Given the description of an element on the screen output the (x, y) to click on. 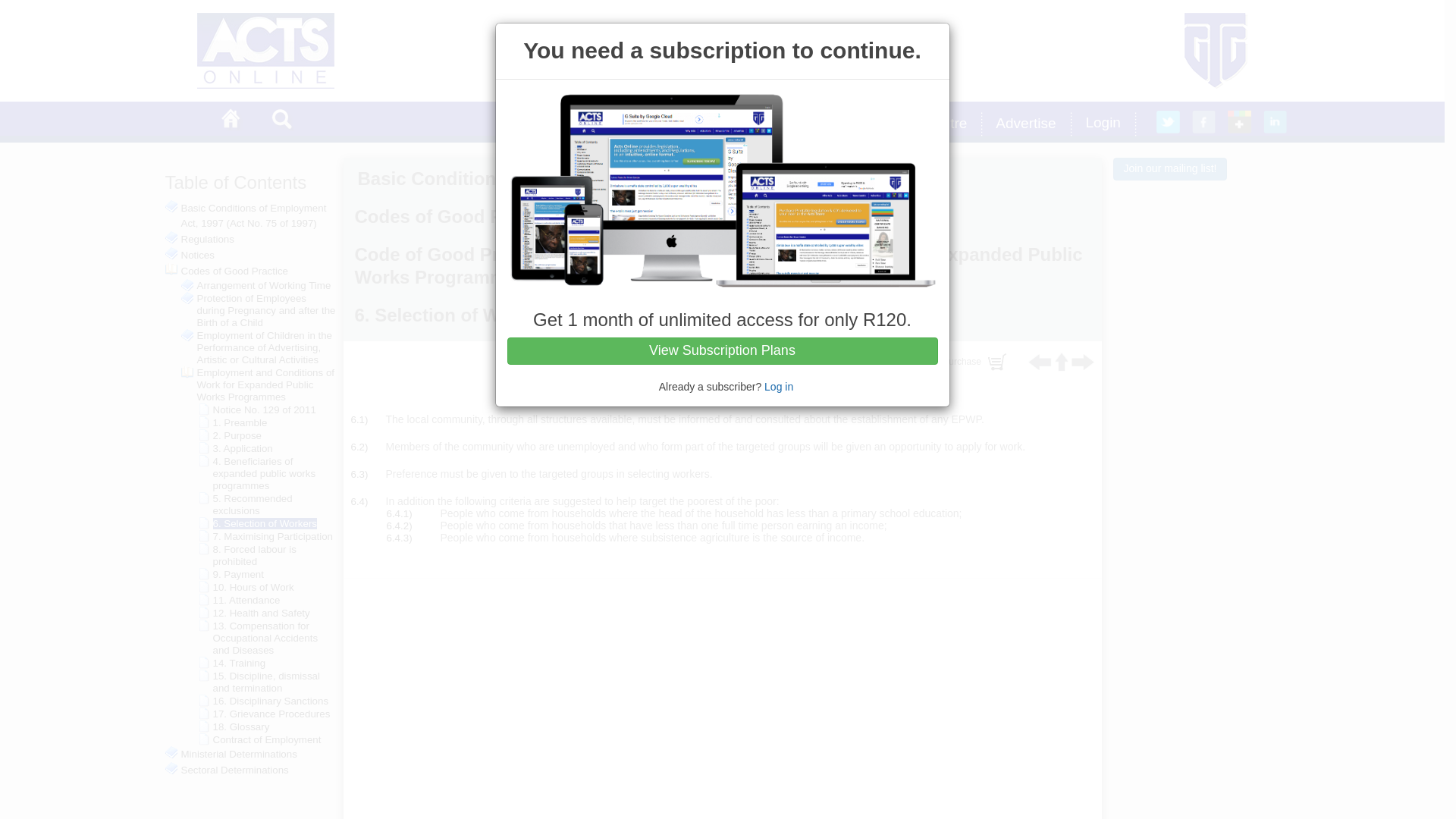
Acts Store (824, 123)
Login (1105, 124)
News Centre (929, 123)
Why Acts (733, 123)
Home (235, 119)
Find an Act (638, 123)
Advertise (1028, 123)
Search (286, 119)
